Given the description of an element on the screen output the (x, y) to click on. 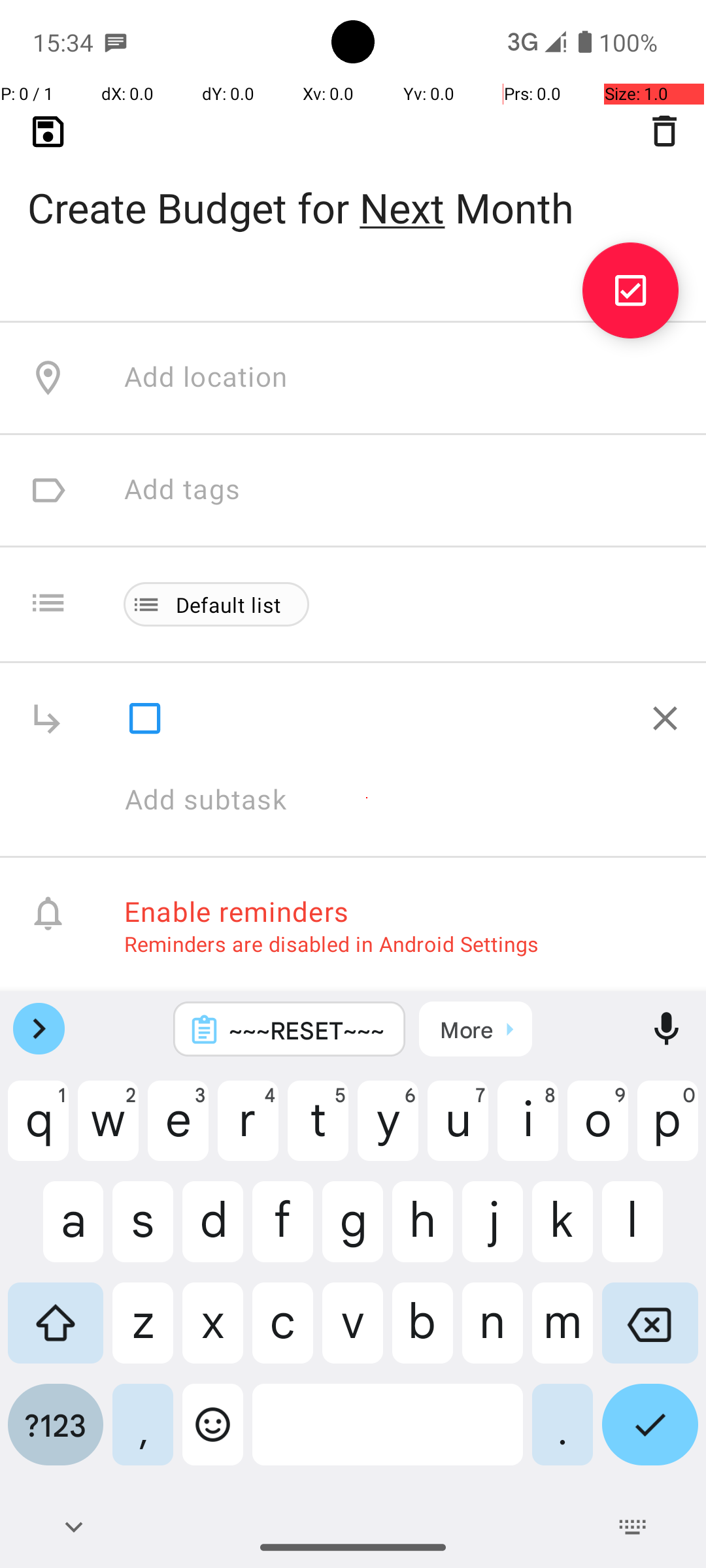
Create Budget for Next Month Element type: android.widget.EditText (353, 186)
